Given the description of an element on the screen output the (x, y) to click on. 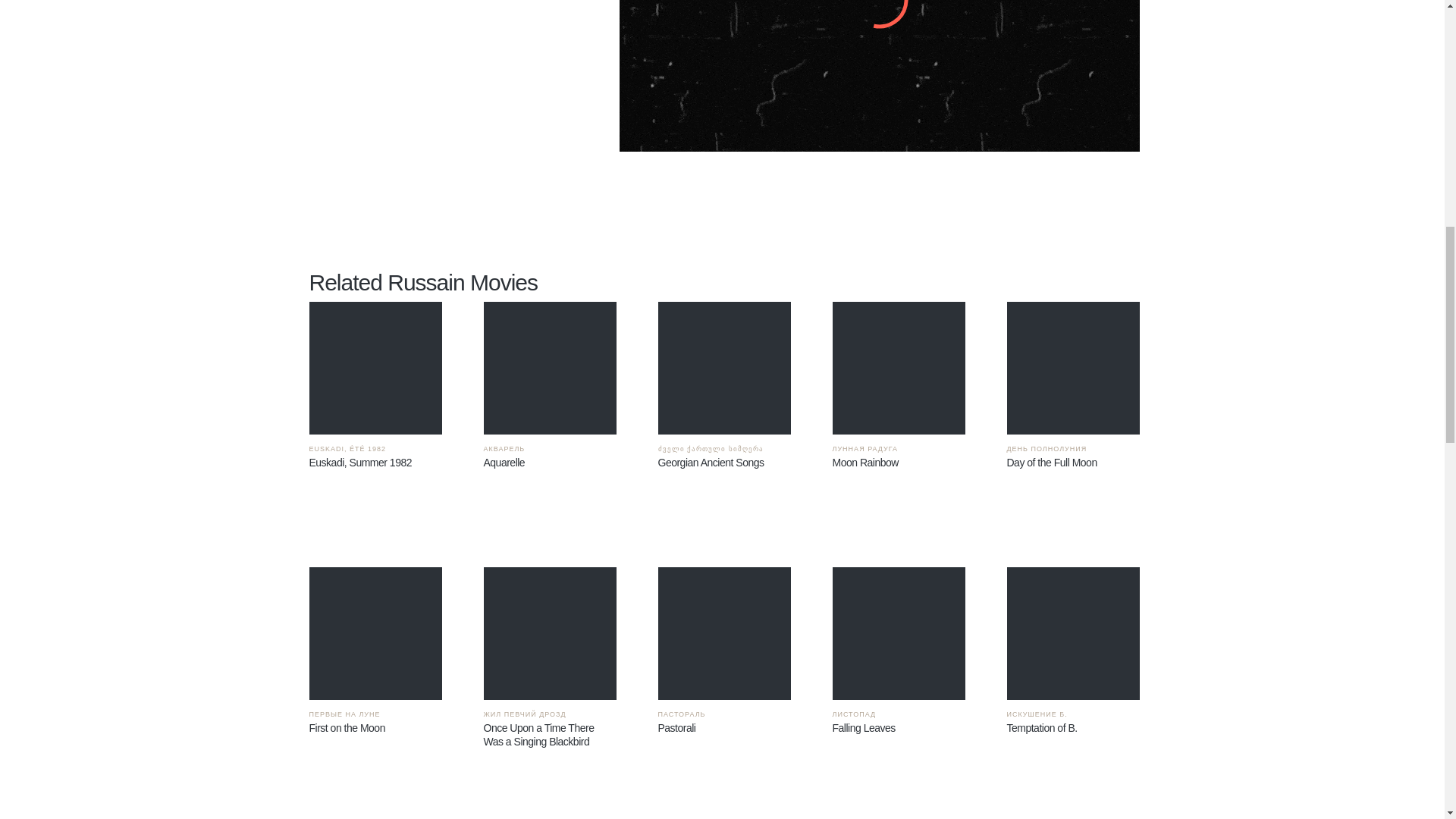
Once Upon a Time There Was a Singing Blackbird (549, 633)
Pastorali (724, 633)
Falling Leaves (898, 633)
Moon Rainbow (898, 368)
Aquarelle (549, 368)
First on the Moon (375, 633)
Day of the Full Moon (1073, 368)
Temptation of B. (1073, 633)
